Given the description of an element on the screen output the (x, y) to click on. 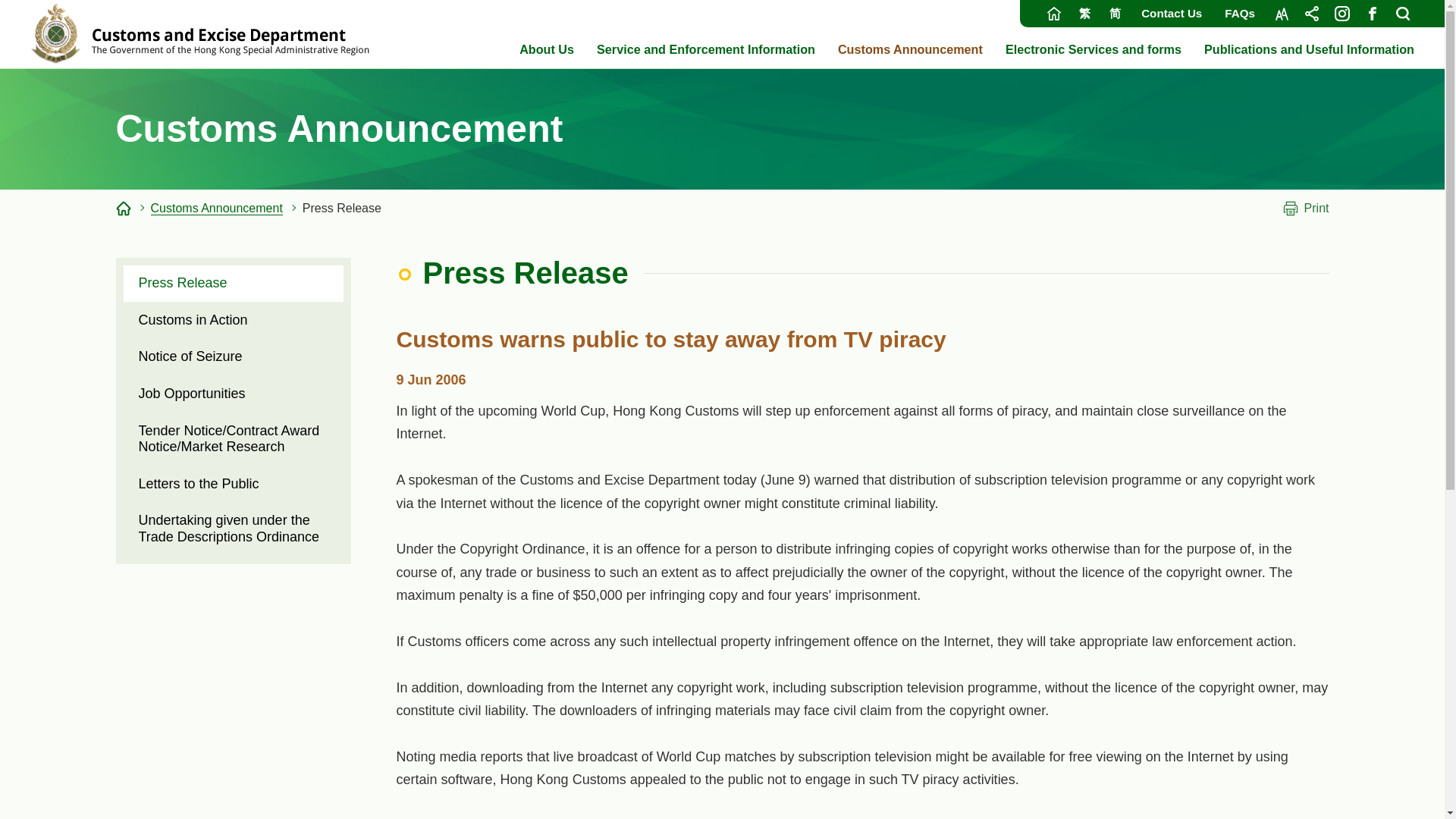
Font Size, This link will open in new window (1280, 13)
